Given the description of an element on the screen output the (x, y) to click on. 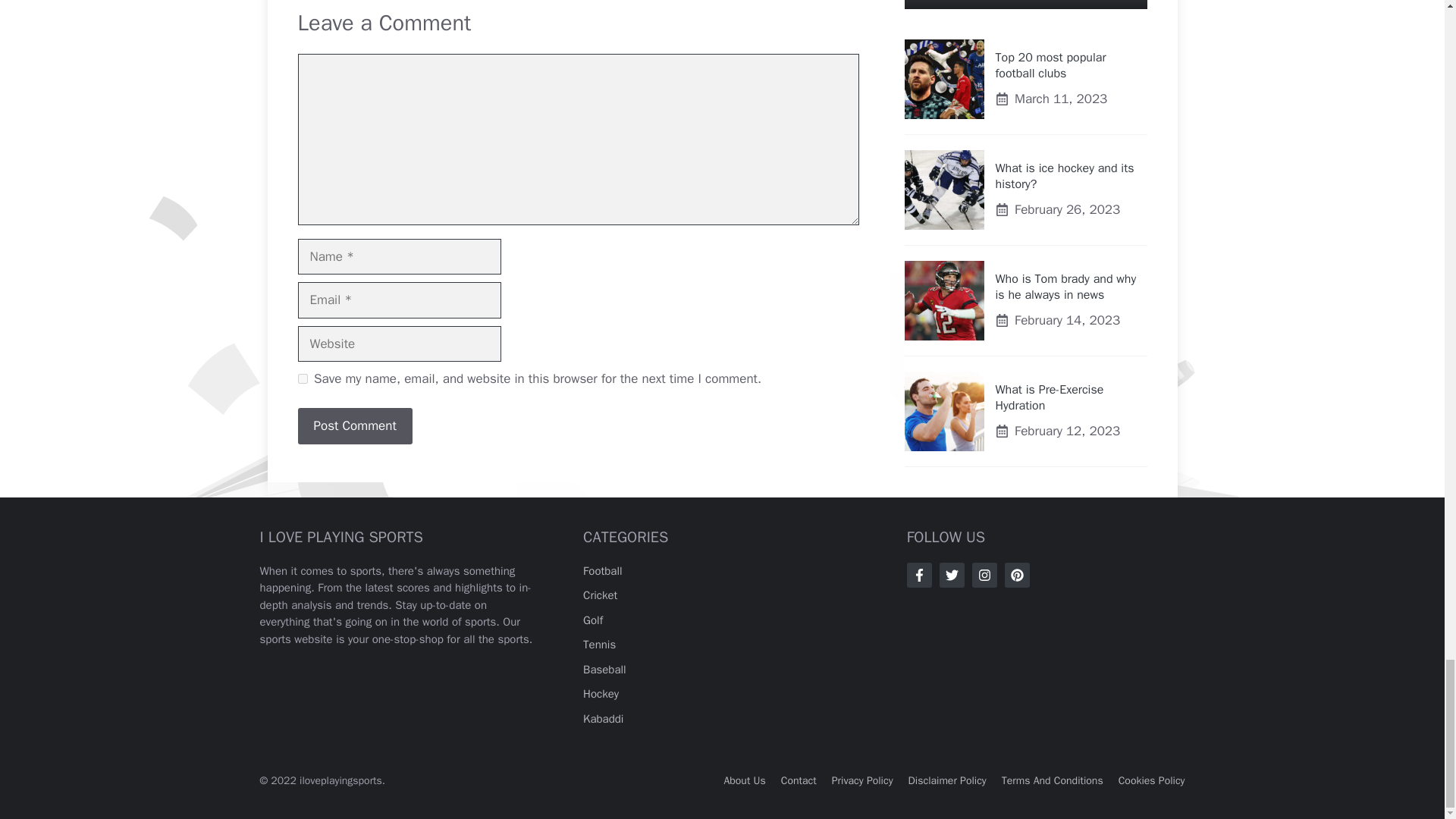
Cricket (600, 594)
Golf (592, 620)
Baseball (604, 669)
Post Comment (354, 425)
Kabaddi (603, 718)
Tennis (599, 644)
yes (302, 378)
Post Comment (354, 425)
Football (603, 571)
Hockey (600, 694)
